Given the description of an element on the screen output the (x, y) to click on. 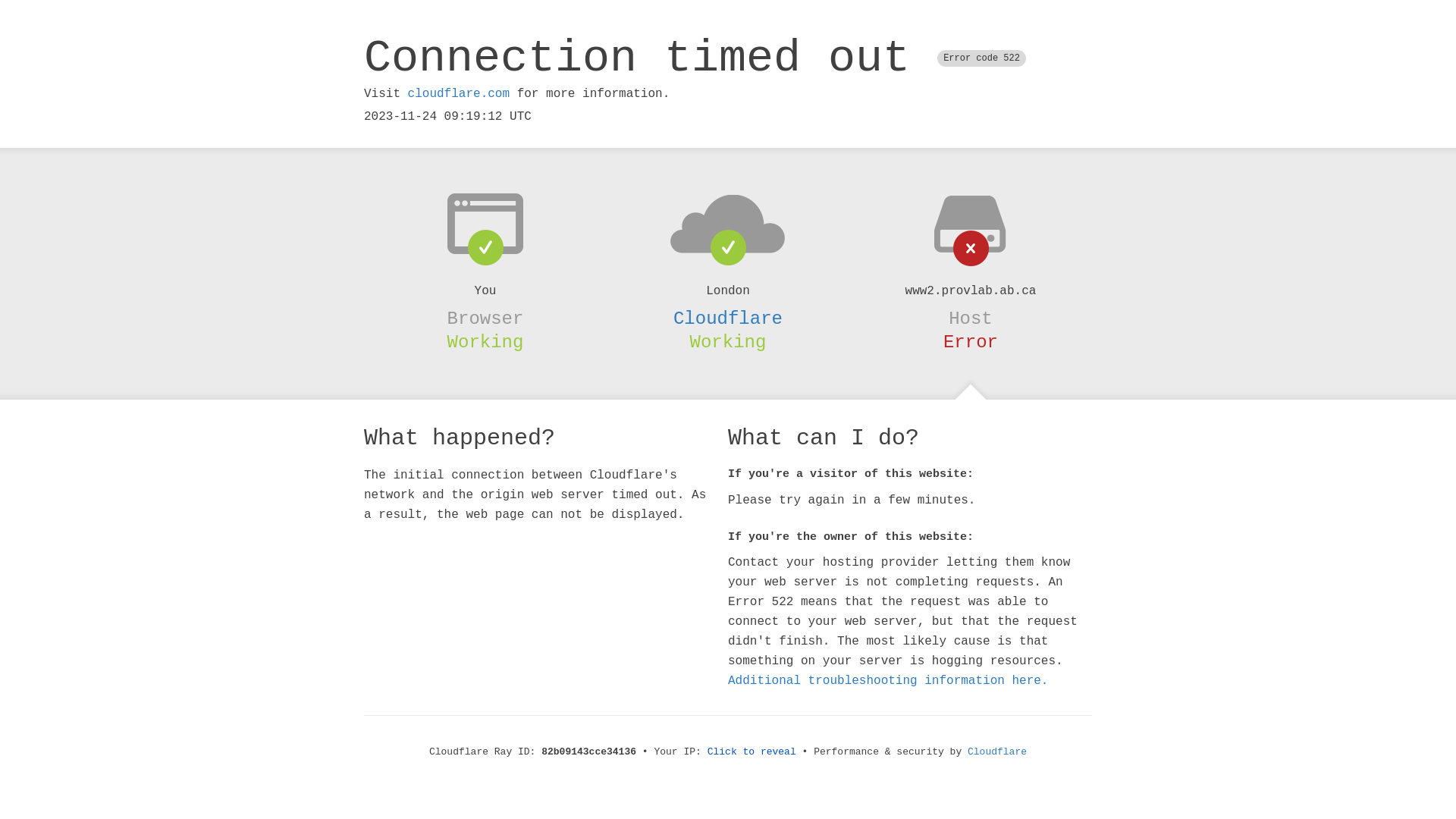
Cloudflare Element type: text (996, 751)
Click to reveal Element type: text (751, 751)
Additional troubleshooting information here. Element type: text (888, 680)
Cloudflare Element type: text (727, 318)
cloudflare.com Element type: text (458, 93)
